Given the description of an element on the screen output the (x, y) to click on. 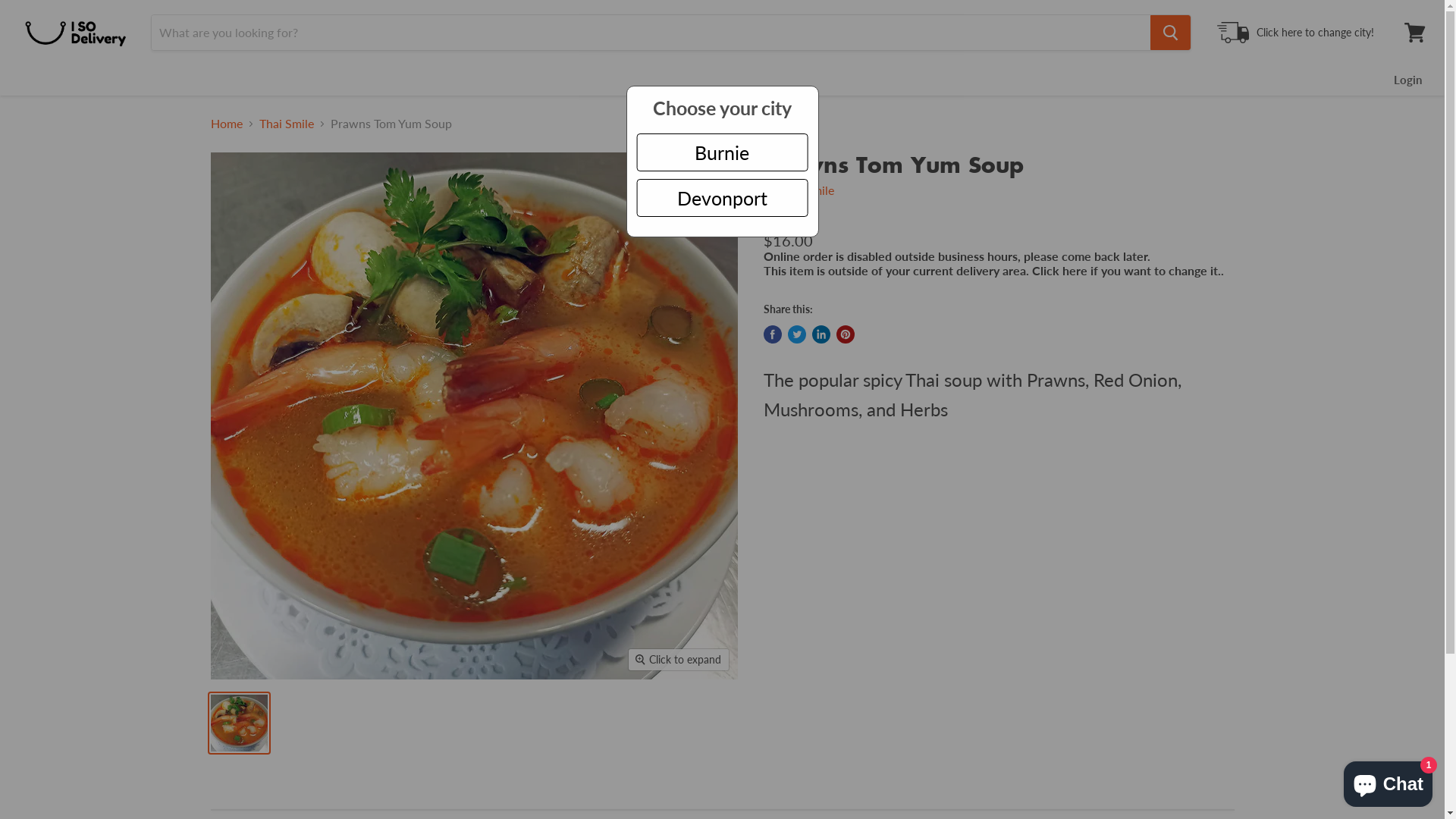
Thai Smile Element type: text (286, 123)
Share on Facebook Element type: text (771, 334)
View cart Element type: text (1414, 32)
Login Element type: text (1407, 79)
Pin on Pinterest Element type: text (844, 334)
Share on LinkedIn Element type: text (820, 334)
Home Element type: text (226, 123)
Devonport Element type: text (722, 197)
Shopify online store chat Element type: hover (1388, 780)
Tweet on Twitter Element type: text (796, 334)
Click to expand Element type: text (678, 659)
Thai Smile Element type: text (806, 189)
Burnie Element type: text (722, 152)
